Given the description of an element on the screen output the (x, y) to click on. 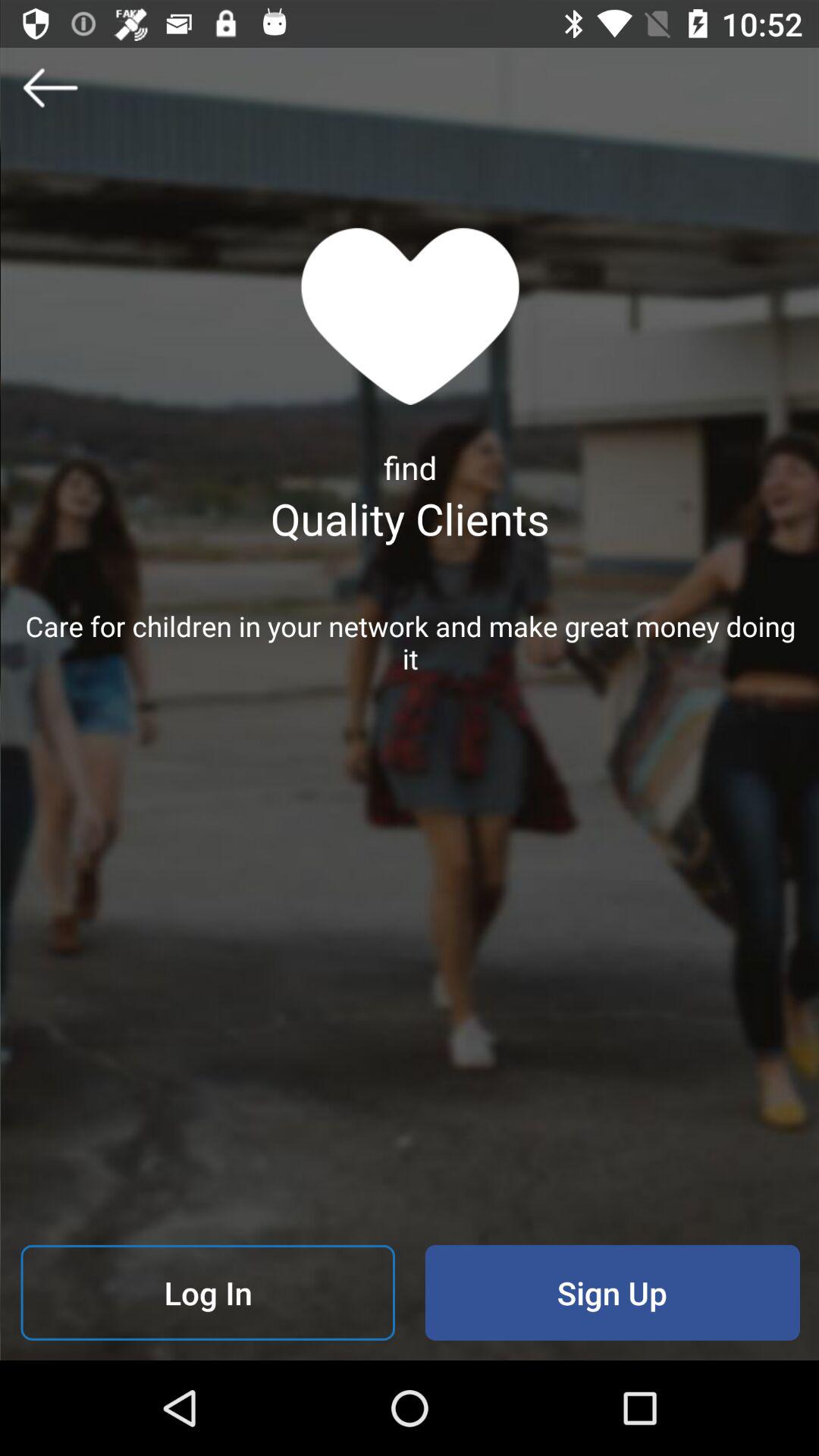
go back (49, 87)
